Given the description of an element on the screen output the (x, y) to click on. 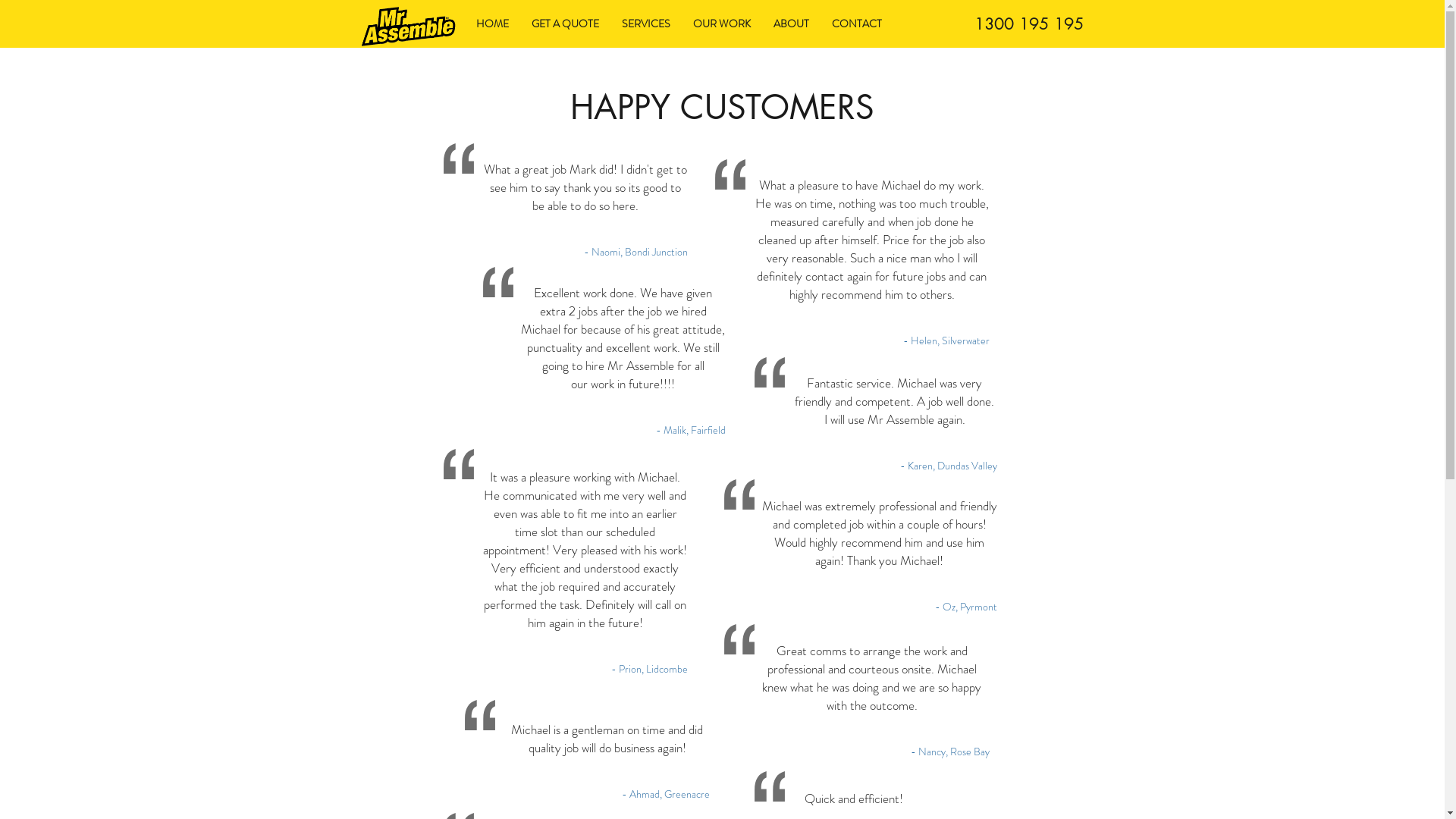
OUR WORK Element type: text (720, 23)
HOME Element type: text (491, 23)
GET A QUOTE Element type: text (565, 23)
CONTACT Element type: text (856, 23)
ABOUT Element type: text (790, 23)
SERVICES Element type: text (644, 23)
